Given the description of an element on the screen output the (x, y) to click on. 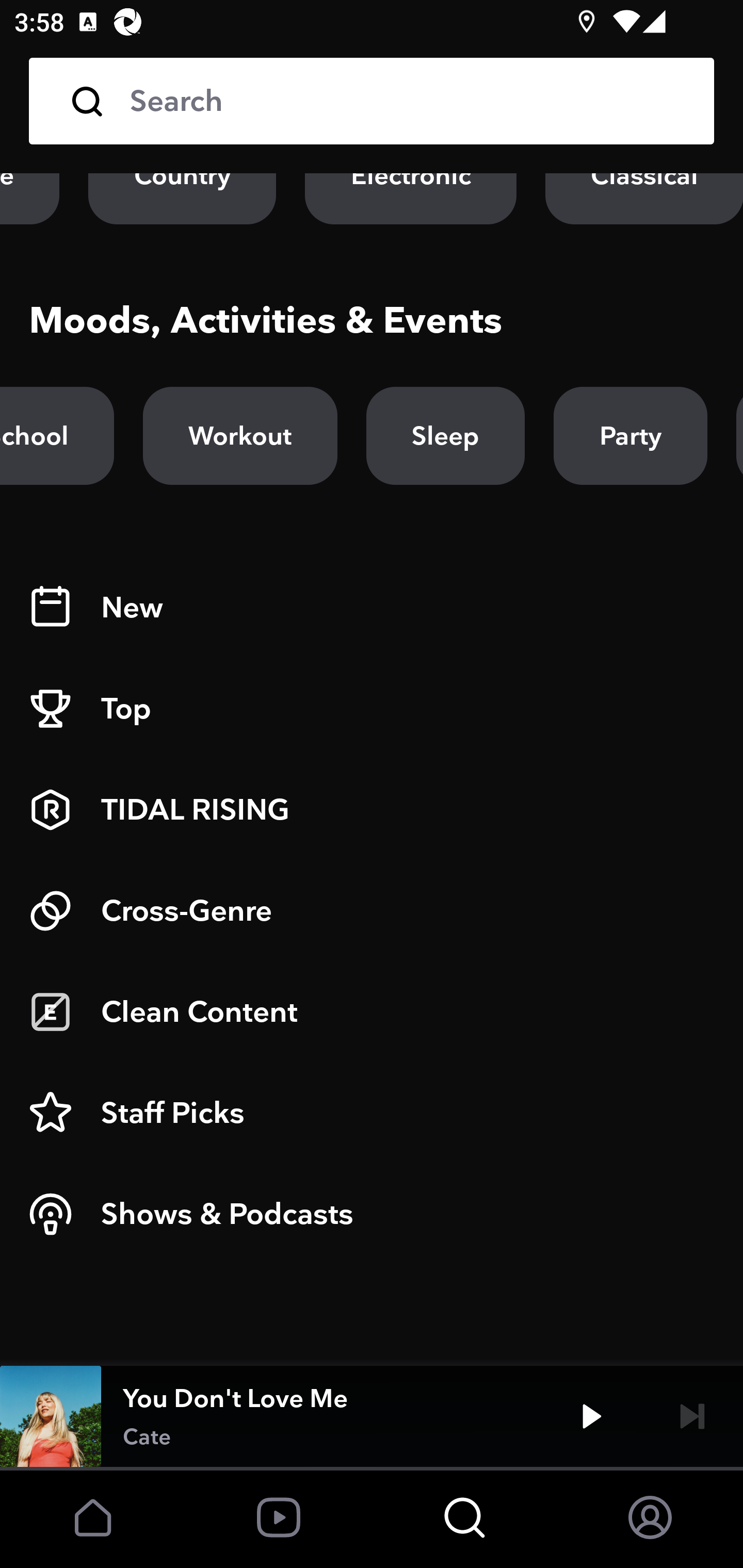
Search (371, 101)
Search (407, 100)
Music School (56, 435)
Workout (239, 435)
Sleep (445, 435)
Party (630, 435)
New (371, 607)
Top (371, 708)
TIDAL RISING (371, 809)
Cross-Genre (371, 910)
Clean Content (371, 1012)
Staff Picks (371, 1113)
Shows & Podcasts (371, 1214)
You Don't Love Me Cate Play (371, 1416)
Play (590, 1416)
